Given the description of an element on the screen output the (x, y) to click on. 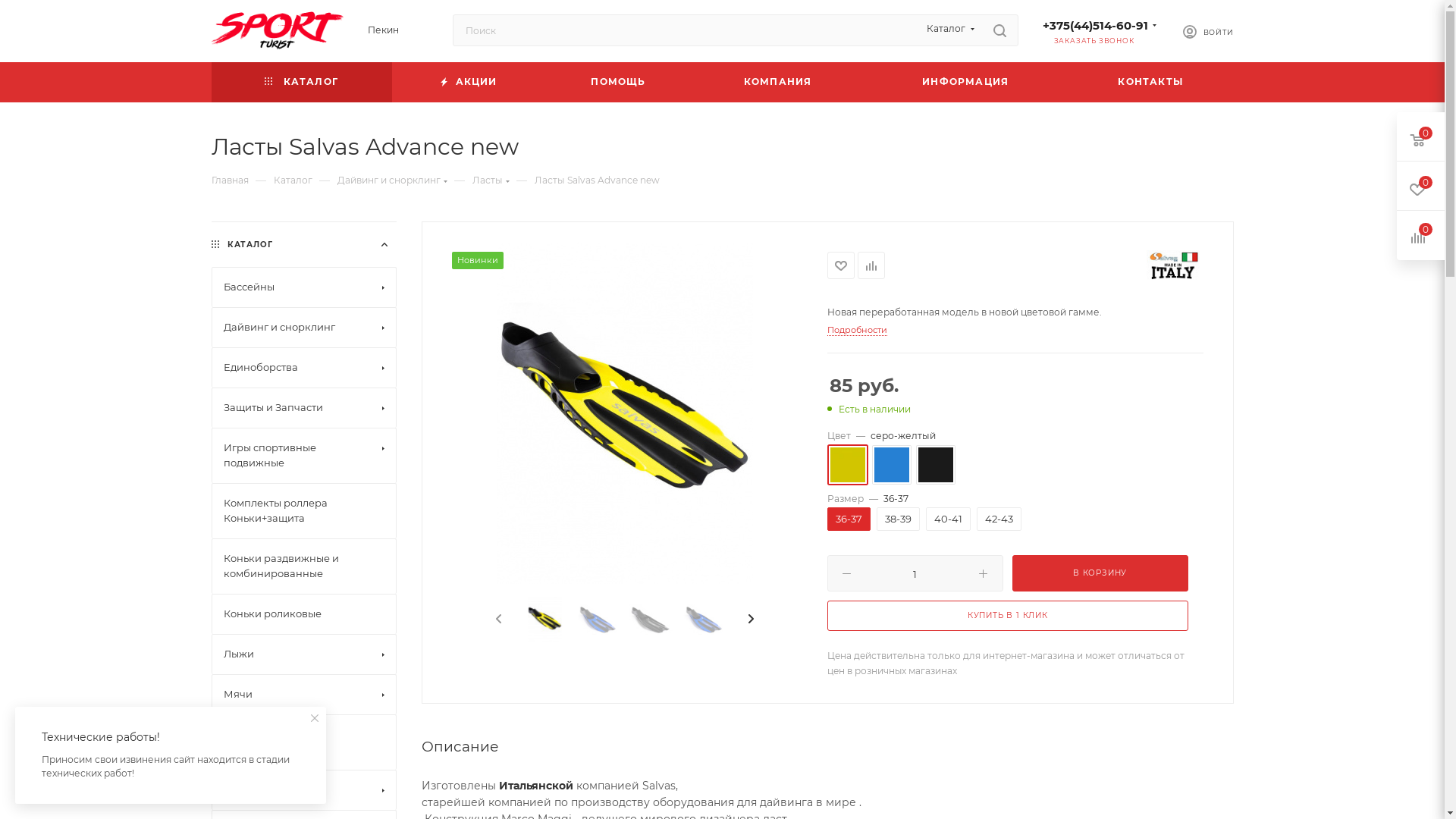
+375(44)514-60-91 Element type: text (1094, 24)
Salvas Element type: hover (1172, 264)
